Given the description of an element on the screen output the (x, y) to click on. 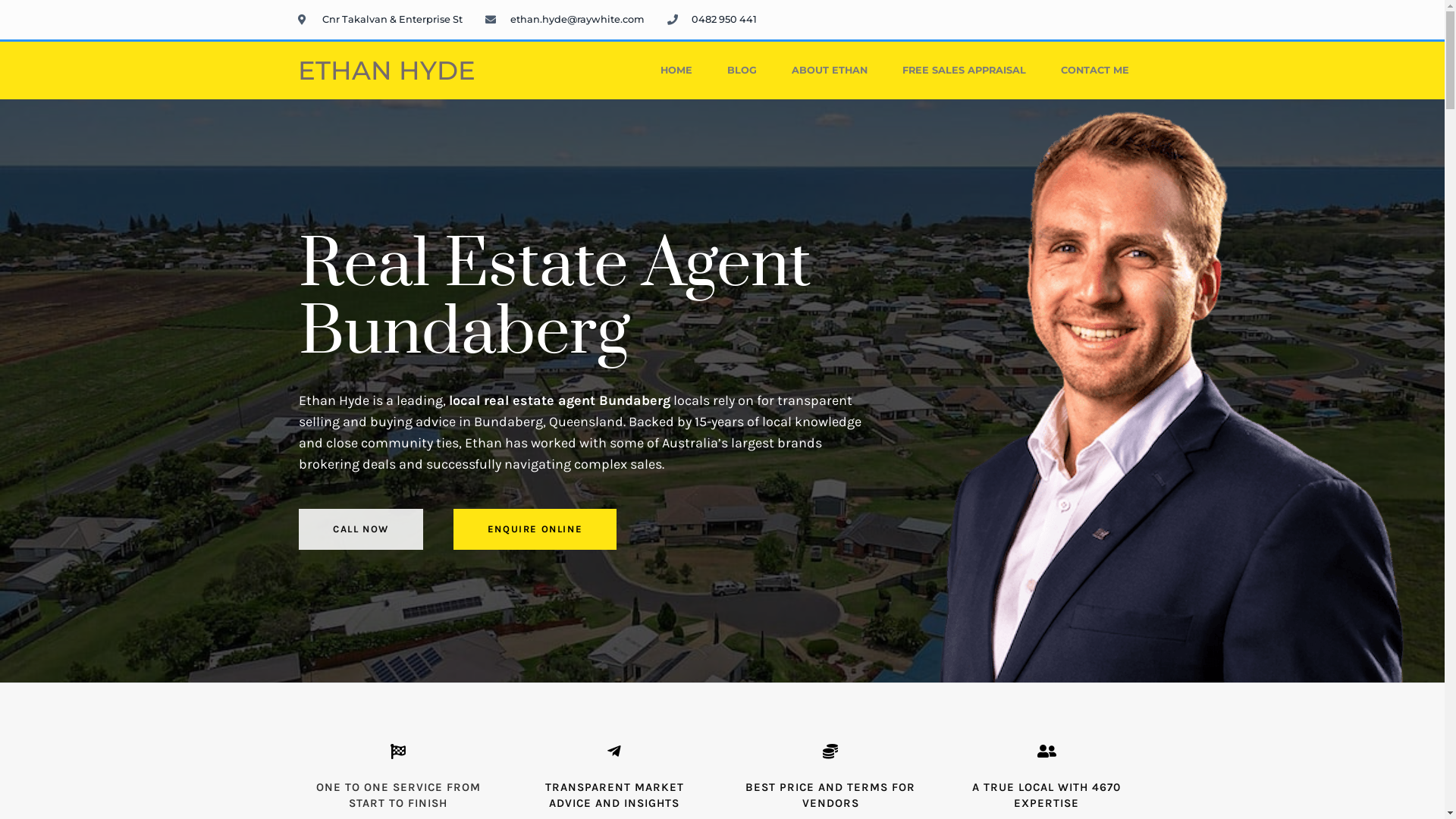
BLOG Element type: text (741, 70)
ABOUT ETHAN Element type: text (829, 70)
ENQUIRE ONLINE Element type: text (534, 528)
HOME Element type: text (676, 70)
CONTACT ME Element type: text (1094, 70)
ETHAN HYDE Element type: text (385, 70)
CALL NOW Element type: text (360, 528)
FREE SALES APPRAISAL Element type: text (963, 70)
0482 950 441 Element type: text (712, 19)
ethan.hyde@raywhite.com Element type: text (564, 19)
